Given the description of an element on the screen output the (x, y) to click on. 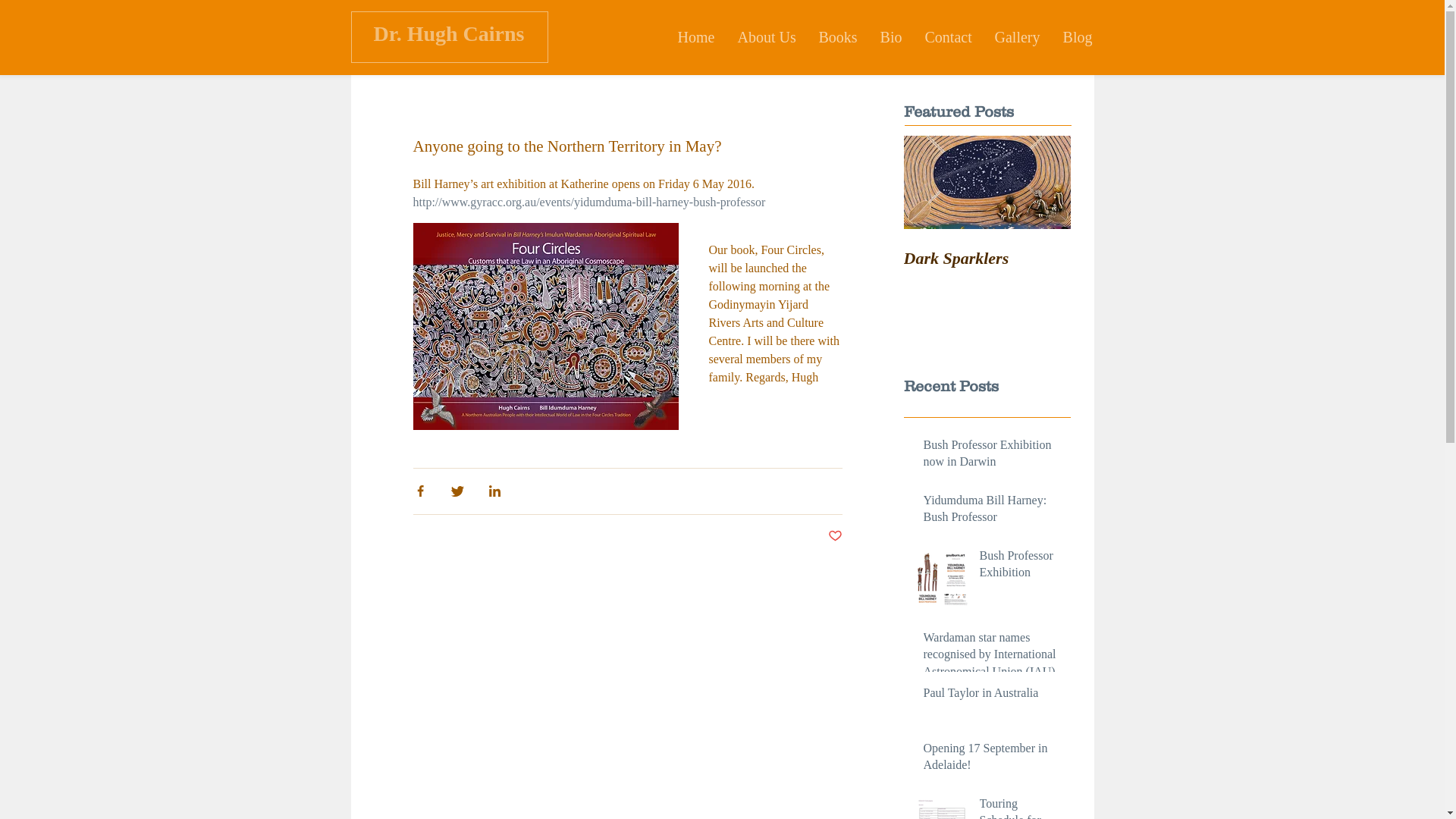
About Us Element type: text (766, 37)
Yidumduma Bill Harney: Bush Professor Element type: text (992, 512)
Bio Element type: text (891, 37)
Books Element type: text (837, 37)
Dark Sparklers Element type: text (986, 258)
Paul Taylor in Australia Element type: text (992, 695)
Bush Professor Exhibition now in Darwin Element type: text (992, 456)
Bush Professor Exhibition Element type: text (1020, 567)
Home Element type: text (695, 37)
Contact Element type: text (947, 37)
Blog Element type: text (1077, 37)
Post not marked as liked Element type: text (835, 536)
Opening 17 September in Adelaide! Element type: text (992, 760)
Gallery Element type: text (1016, 37)
